Given the description of an element on the screen output the (x, y) to click on. 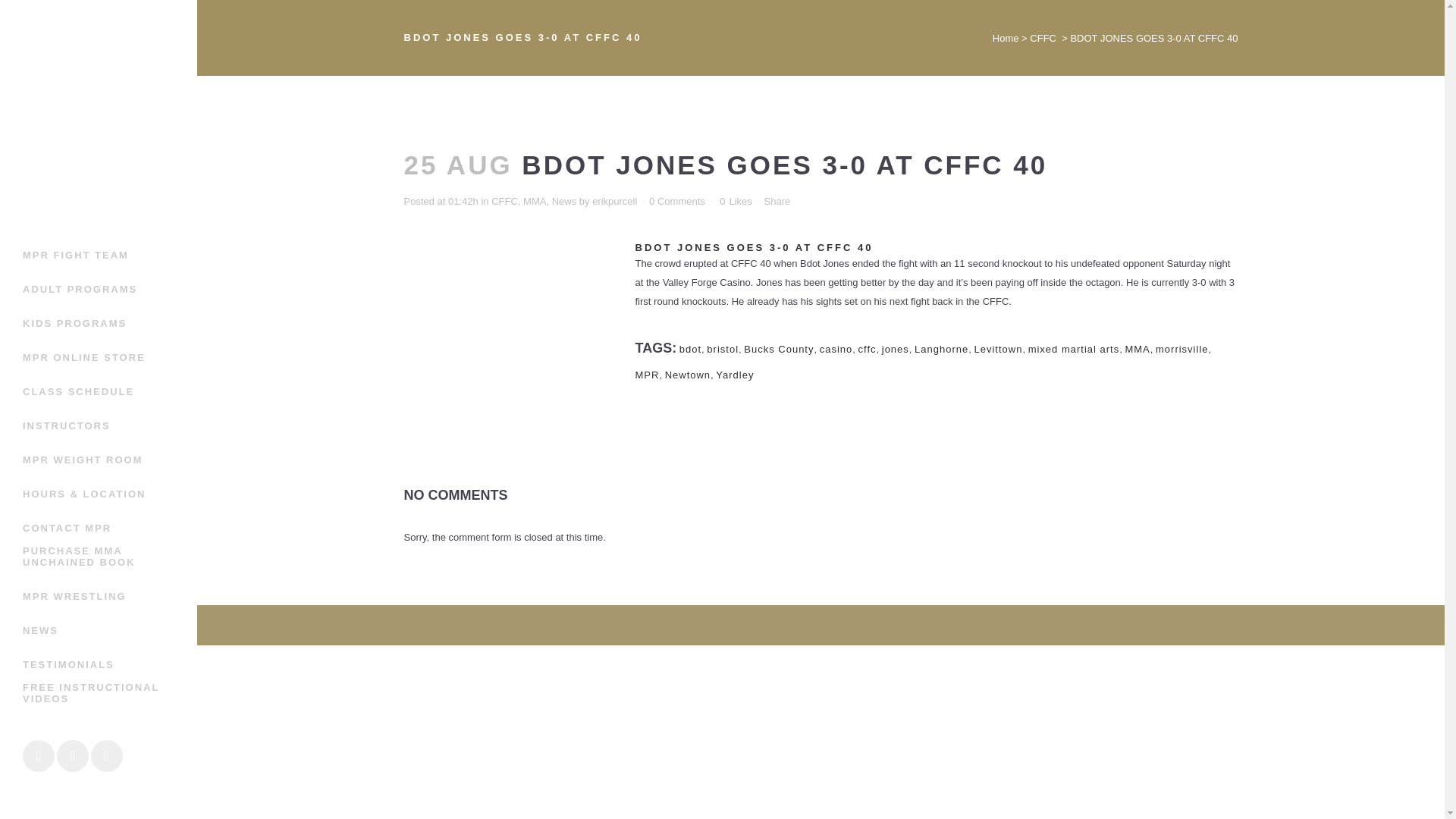
INSTRUCTORS (98, 425)
PURCHASE MMA UNCHAINED BOOK (98, 562)
MPR ONLINE STORE (98, 357)
CONTACT MPR (98, 528)
KIDS PROGRAMS (98, 323)
MPR FIGHT TEAM (98, 254)
CLASS SCHEDULE (98, 391)
ADULT PROGRAMS (98, 288)
MPR WRESTLING (98, 596)
Like this (735, 201)
